Given the description of an element on the screen output the (x, y) to click on. 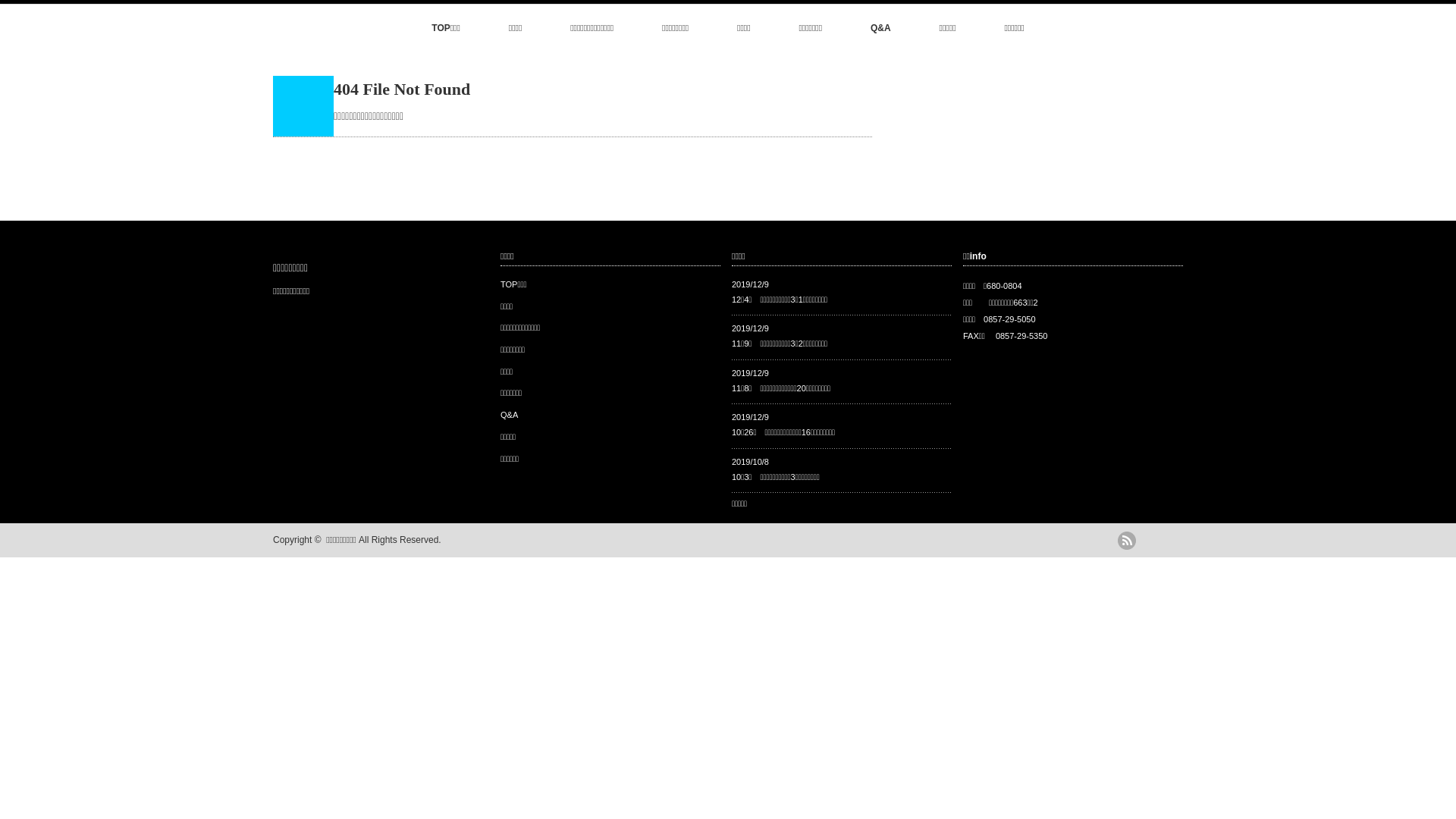
rss Element type: text (1126, 540)
Q&A Element type: text (880, 28)
Q&A Element type: text (508, 414)
